Given the description of an element on the screen output the (x, y) to click on. 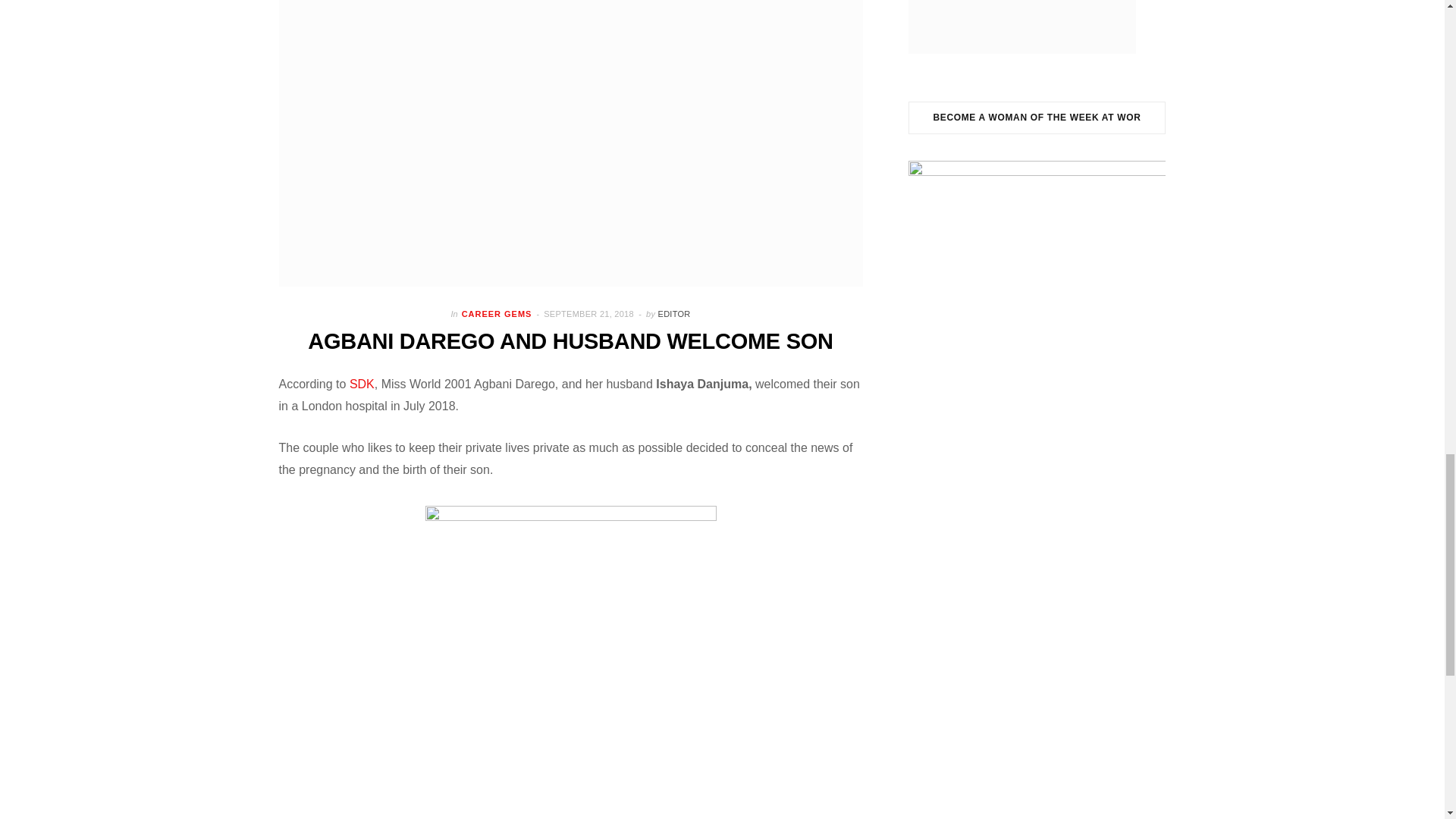
SDK (361, 383)
Posts by Editor (674, 313)
SEPTEMBER 21, 2018 (589, 313)
CAREER GEMS (496, 314)
EDITOR (674, 313)
AGBANI DAREGO AND HUSBAND WELCOME SON (569, 340)
